Given the description of an element on the screen output the (x, y) to click on. 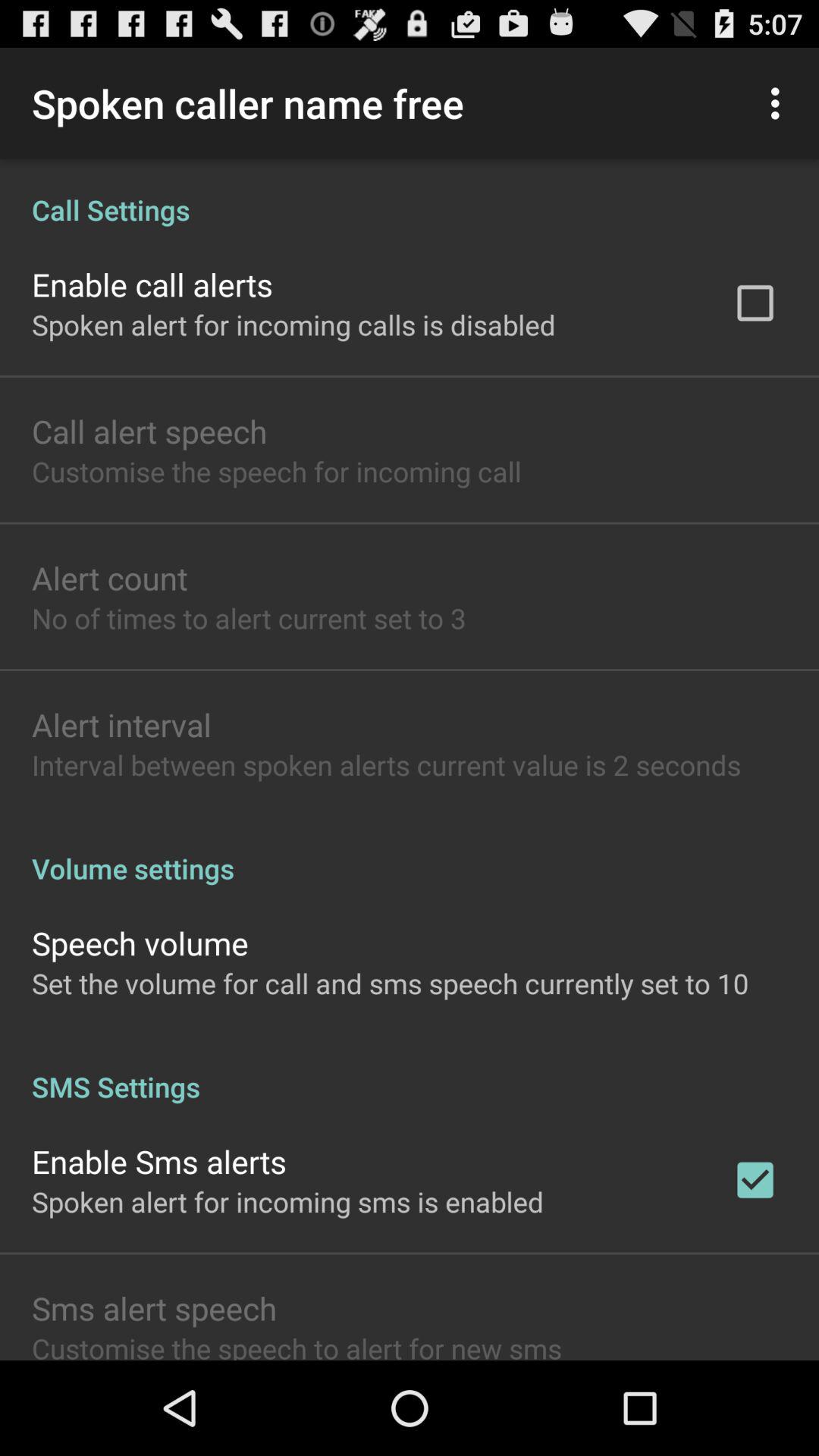
tap icon above the call settings icon (779, 103)
